Given the description of an element on the screen output the (x, y) to click on. 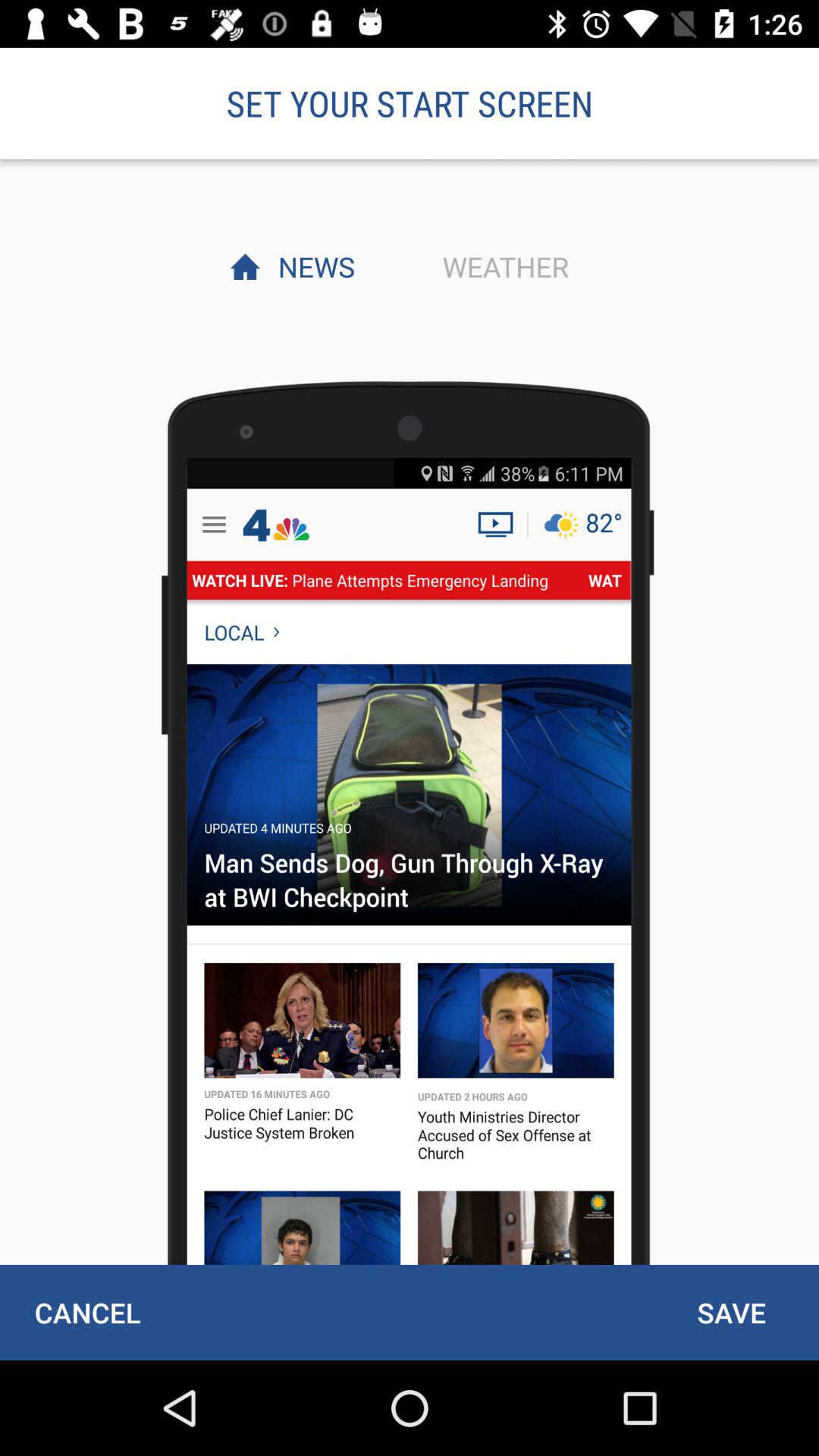
swipe to the news (312, 266)
